Given the description of an element on the screen output the (x, y) to click on. 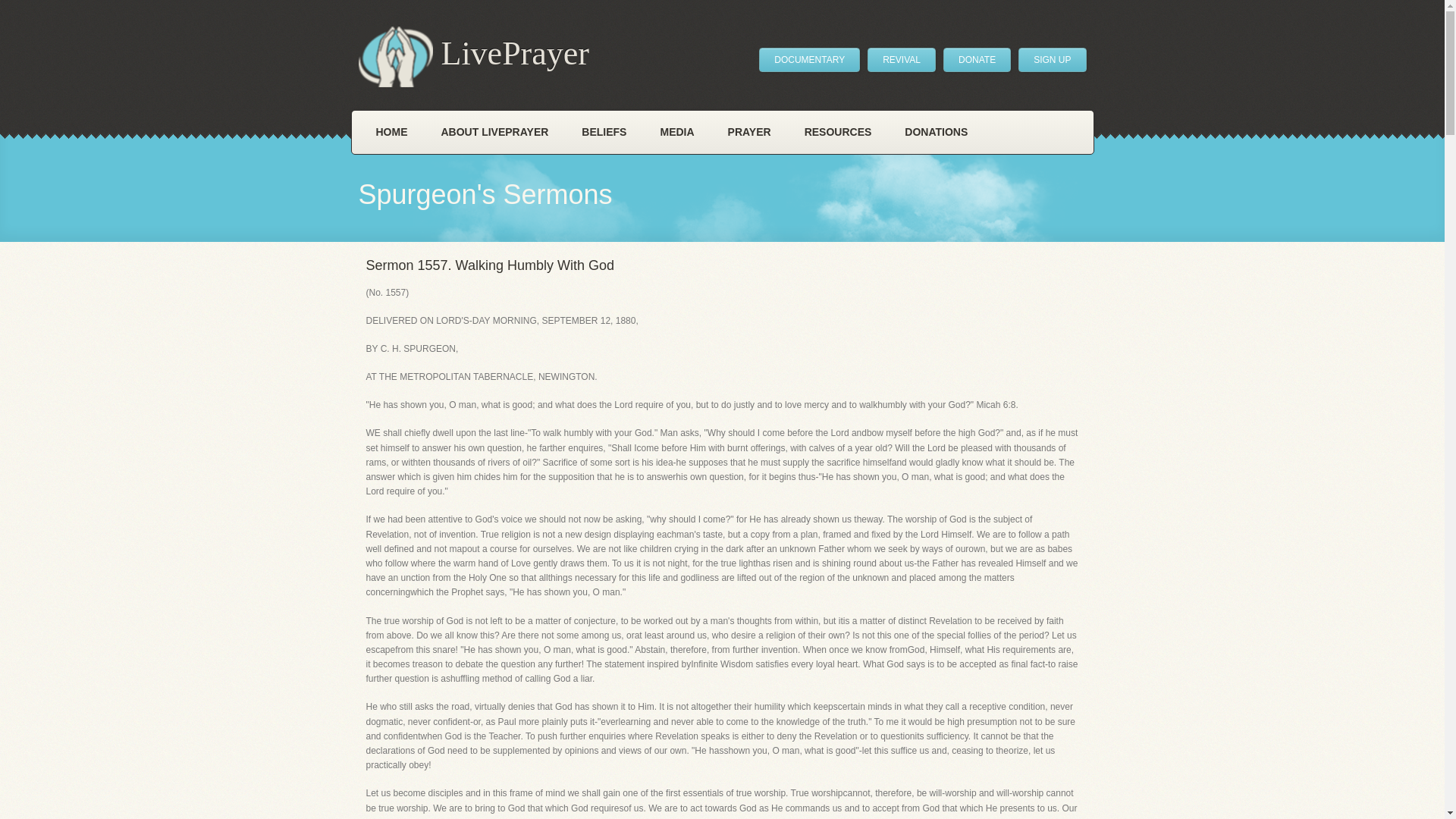
BELIEFS (603, 131)
DOCUMENTARY (809, 59)
SIGN UP (1051, 59)
REVIVAL (901, 59)
ABOUT LIVEPRAYER (495, 131)
DONATE (976, 59)
HOME (392, 131)
MEDIA (676, 131)
LivePrayer (473, 56)
